Given the description of an element on the screen output the (x, y) to click on. 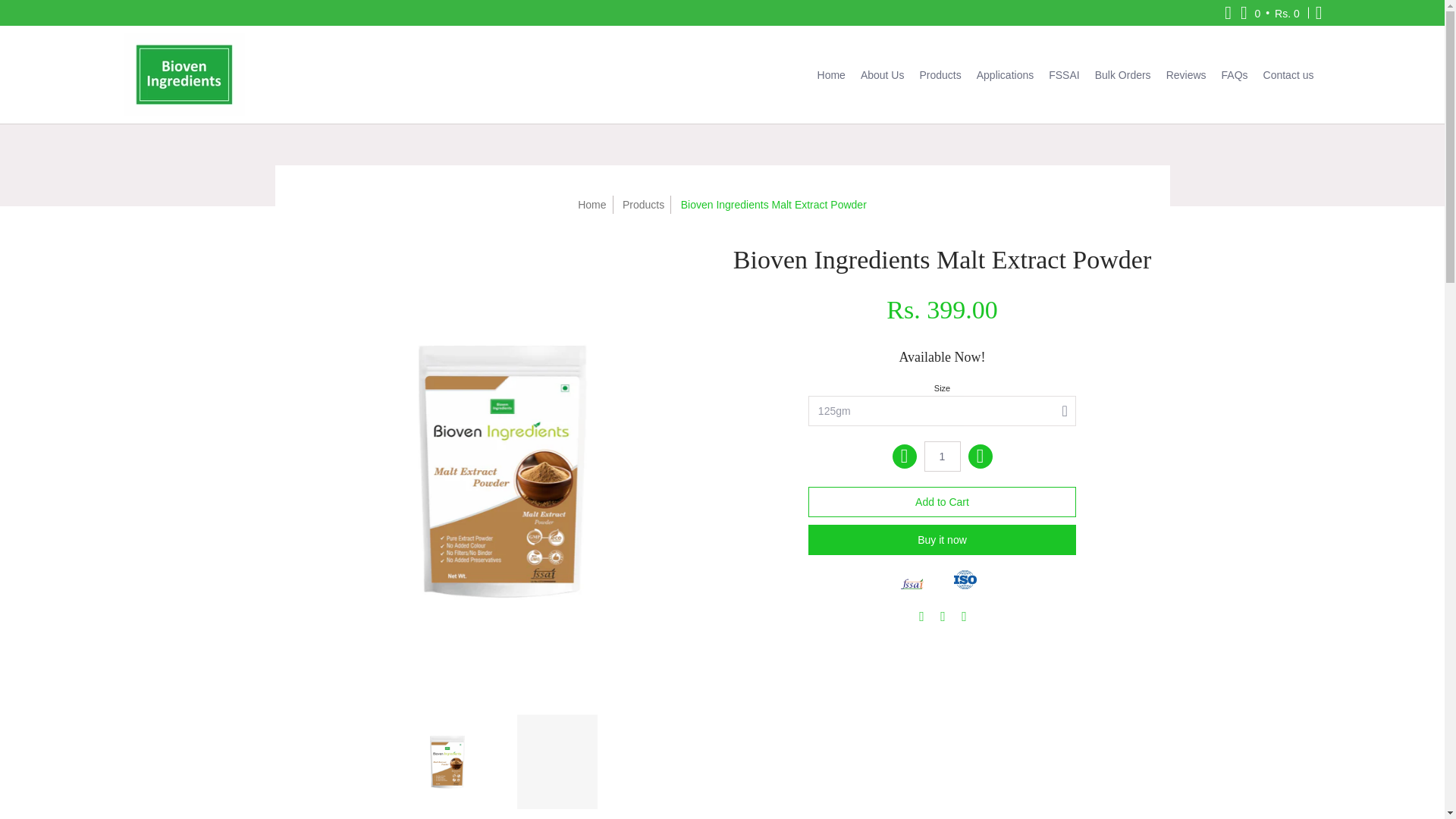
Buy it now (941, 539)
1 (941, 456)
Add to Cart (941, 501)
Add to Cart (941, 501)
Home (591, 204)
Cart (1270, 12)
Products (643, 204)
Online Ingredients (183, 74)
